Given the description of an element on the screen output the (x, y) to click on. 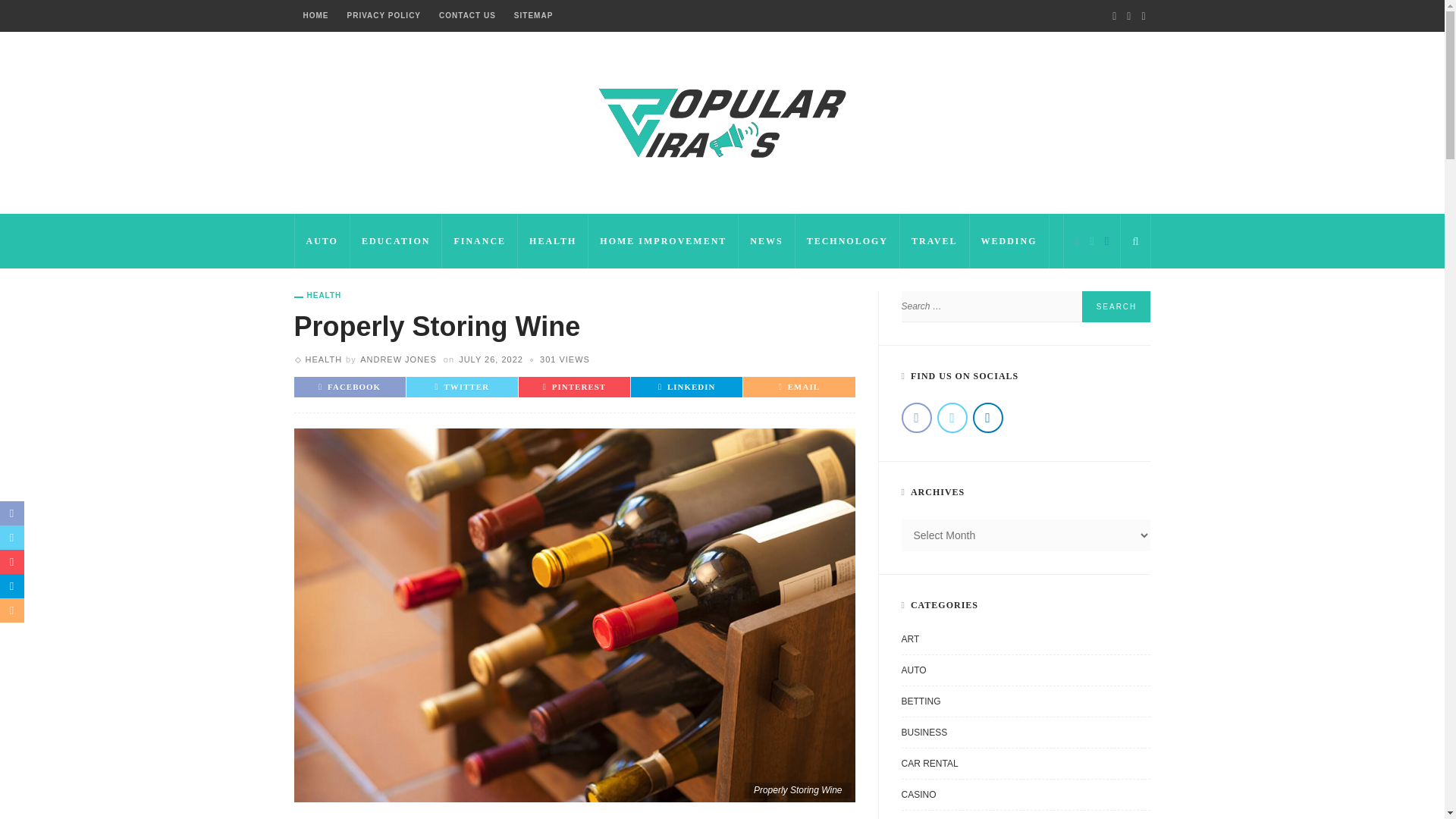
Twitter (1091, 240)
Popular Virals (722, 121)
Search (1115, 306)
LinkedIn (1106, 240)
Facebook (1077, 240)
Search (1115, 306)
